Given the description of an element on the screen output the (x, y) to click on. 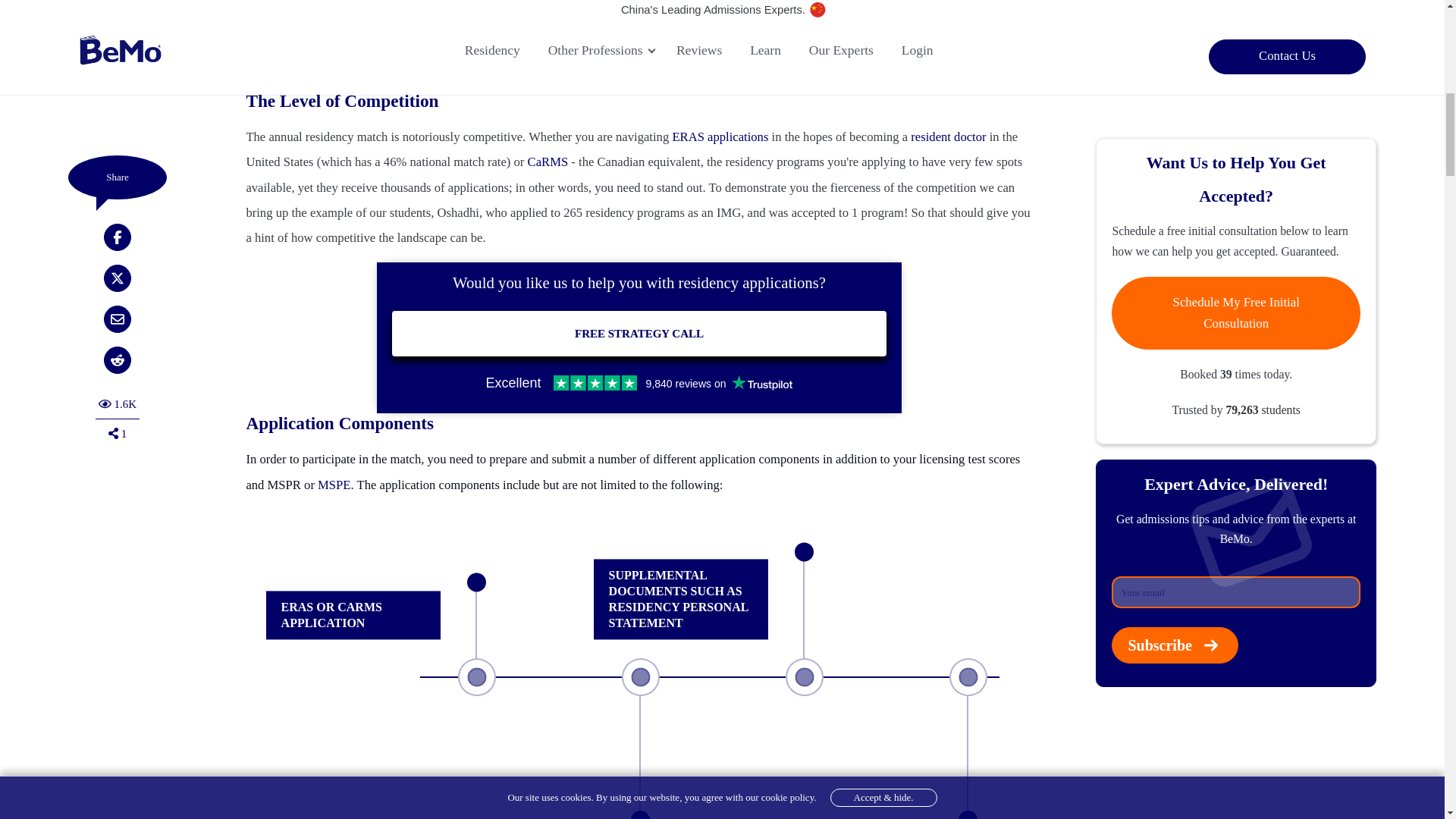
residency applications (395, 65)
resident doctor (948, 136)
MSPE (333, 484)
Customer reviews powered by Trustpilot (638, 382)
ERAS applications (719, 136)
 CaRMS  (547, 161)
FREE STRATEGY CALL (638, 333)
prepare for residency applications (425, 40)
